Given the description of an element on the screen output the (x, y) to click on. 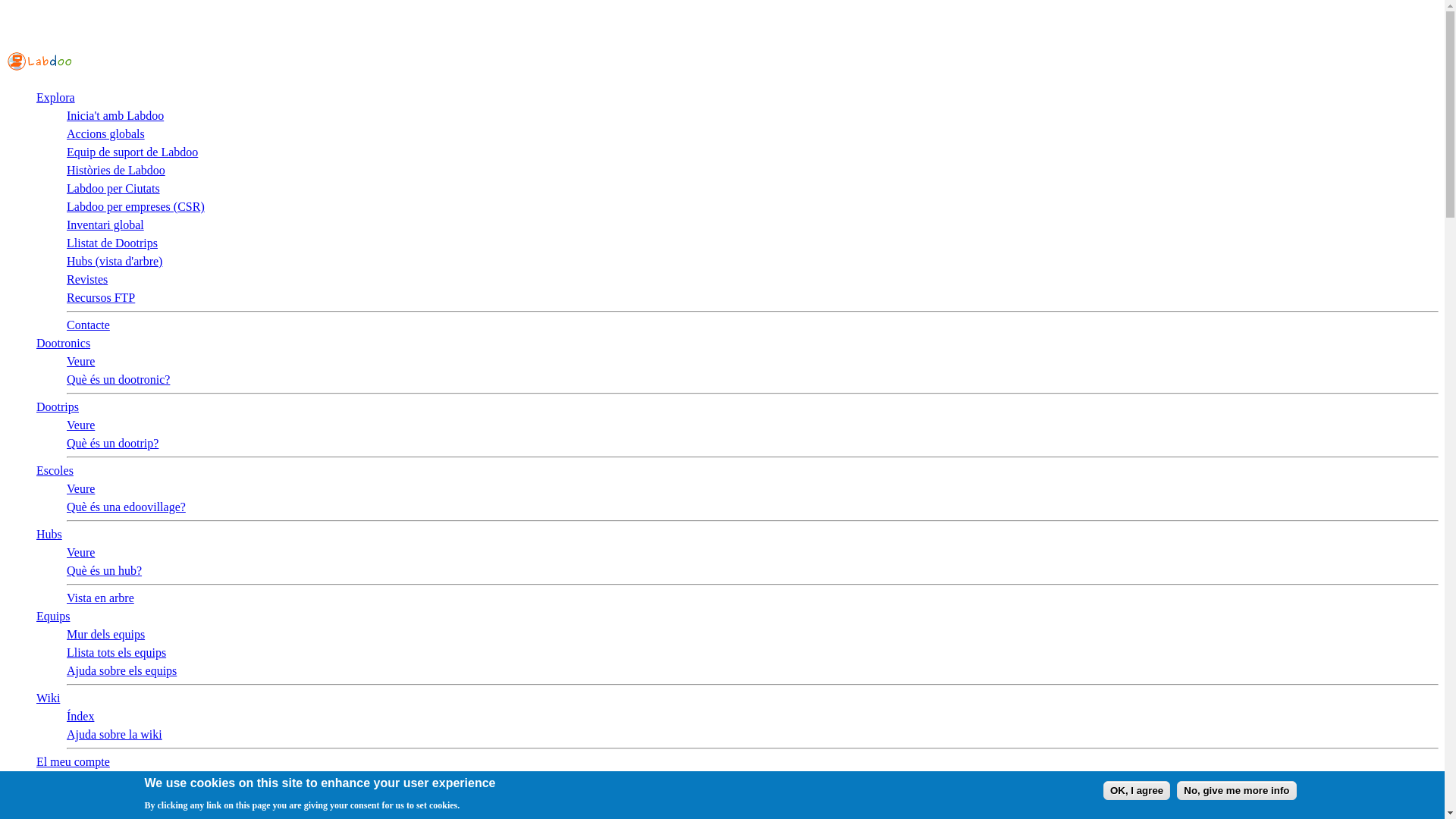
Ajuda sobre el meu compte (133, 814)
Veure (80, 424)
Revistes (86, 278)
Explora (55, 96)
Dootrips (57, 406)
Veure (80, 360)
Inicia't amb Labdoo (114, 115)
Dootronics (63, 342)
Escoles (55, 470)
Llista tots els equips (115, 652)
Accions globals (105, 133)
Explore the Labdoo platform using a variety of tools (55, 96)
Contacte (88, 324)
